Given the description of an element on the screen output the (x, y) to click on. 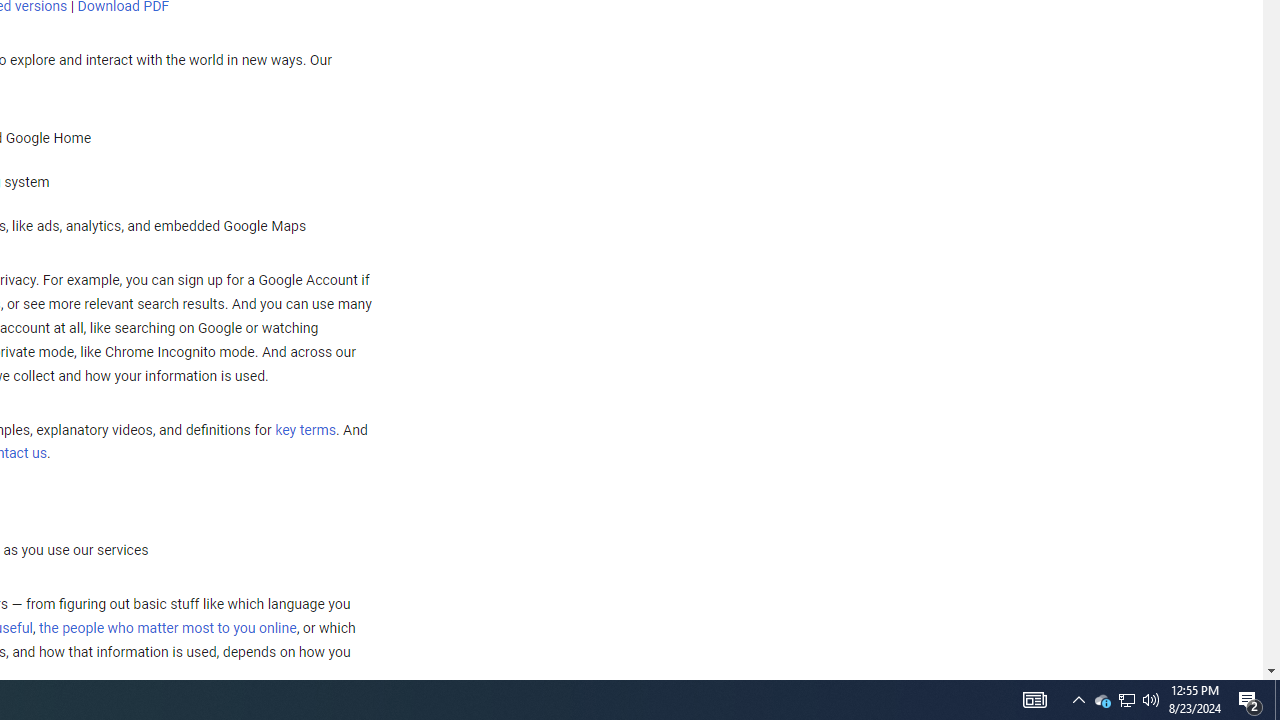
the people who matter most to you online (167, 628)
key terms (305, 430)
